Given the description of an element on the screen output the (x, y) to click on. 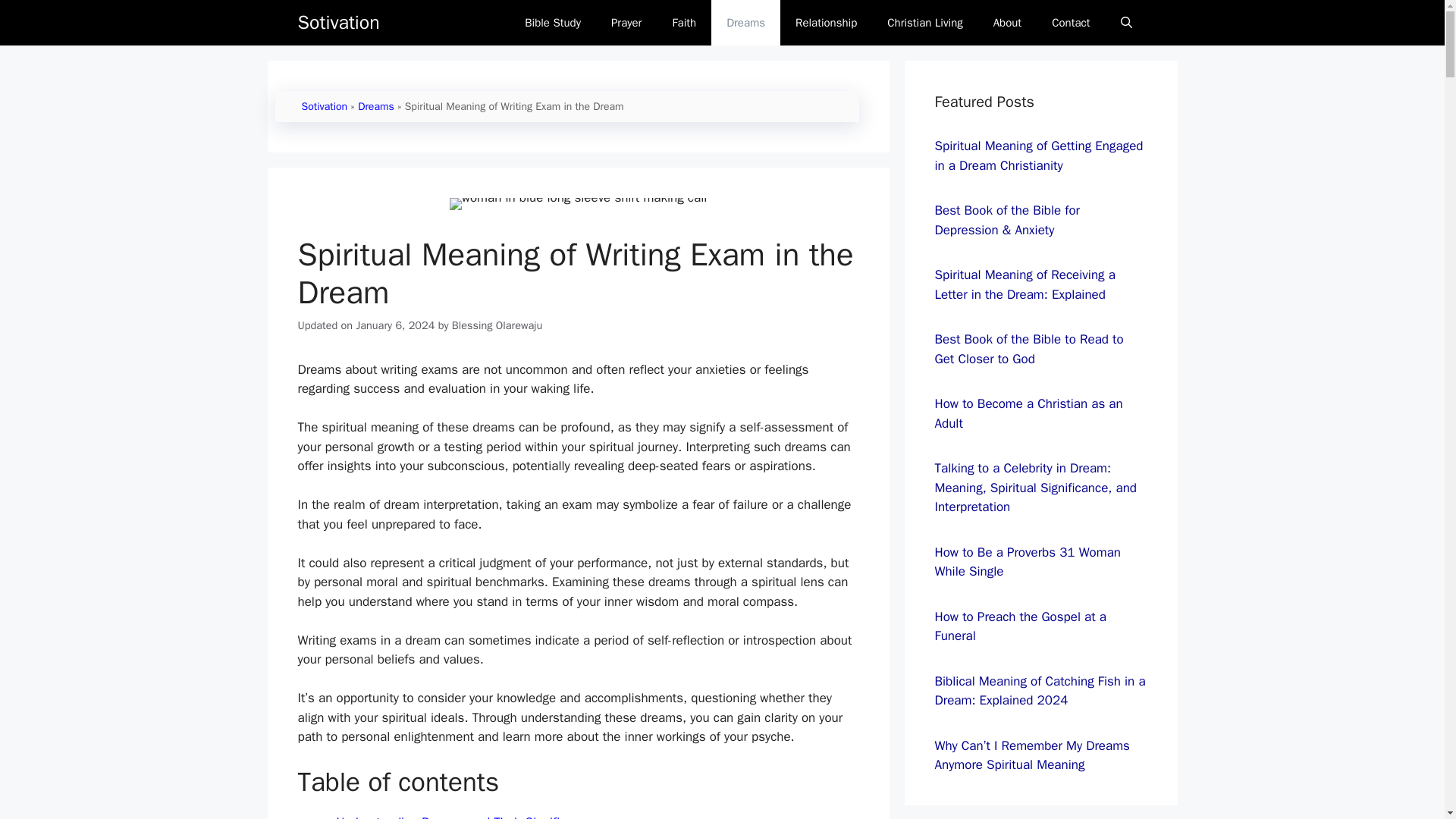
Relationship (826, 22)
Bible Study (552, 22)
Christian Living (924, 22)
About (1007, 22)
Dreams (376, 106)
Understanding Dreams and Their Significance (465, 816)
Sotivation (337, 22)
Prayer (625, 22)
Faith (683, 22)
Sotivation (324, 106)
